Given the description of an element on the screen output the (x, y) to click on. 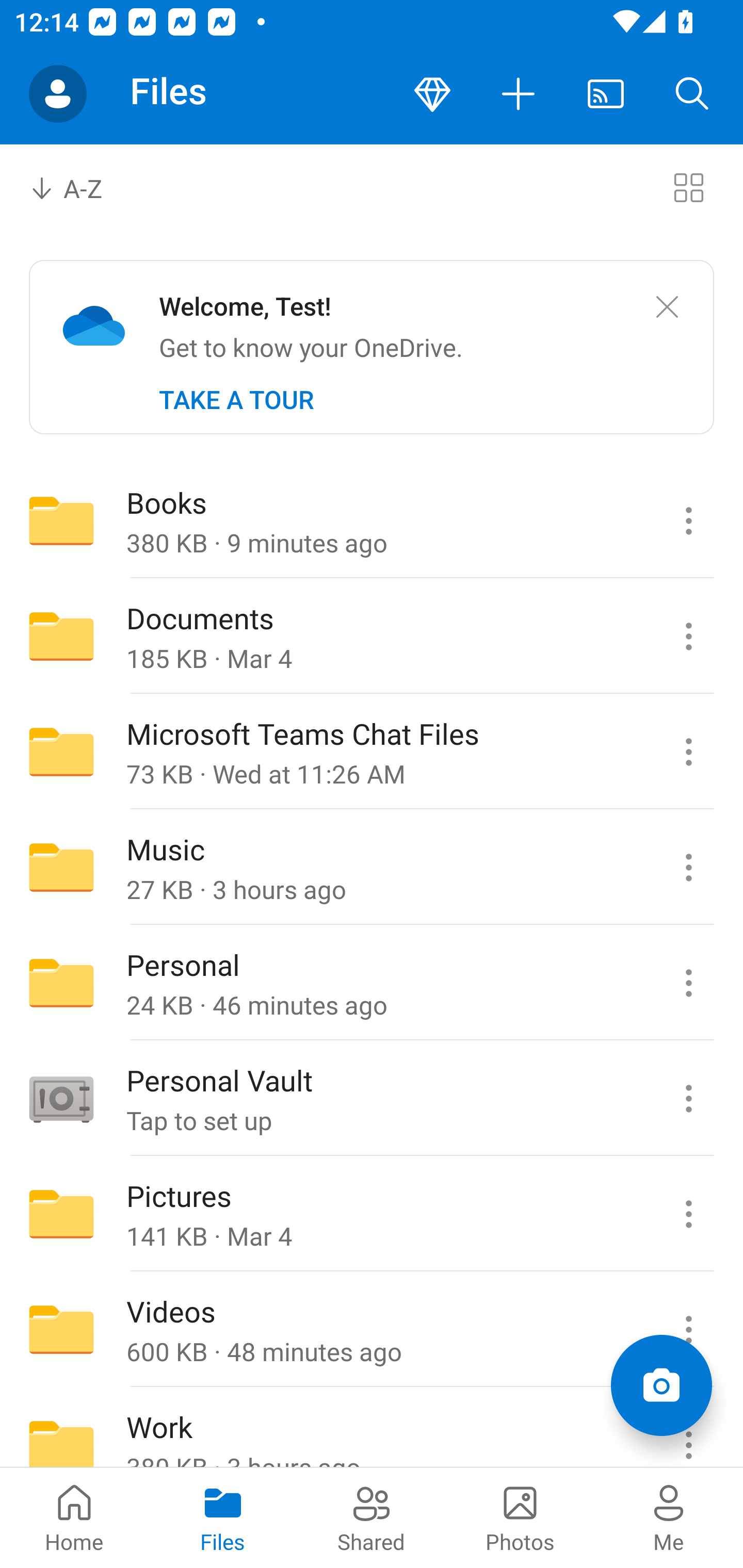
Account switcher (57, 93)
Cast. Disconnected (605, 93)
Premium button (432, 93)
More actions button (518, 93)
Search button (692, 93)
A-Z Sort by combo box, sort by name, A to Z (80, 187)
Switch to tiles view (688, 187)
Close (667, 307)
TAKE A TOUR (236, 399)
Folder Books 380 KB · 9 minutes ago Books commands (371, 520)
Books commands (688, 520)
Folder Documents 185 KB · Mar 4 Documents commands (371, 636)
Documents commands (688, 636)
Microsoft Teams Chat Files commands (688, 751)
Folder Music 27 KB · 3 hours ago Music commands (371, 867)
Music commands (688, 867)
Personal commands (688, 983)
Personal Vault commands (688, 1099)
Folder Pictures 141 KB · Mar 4 Pictures commands (371, 1214)
Pictures commands (688, 1214)
Videos commands (688, 1329)
Add items Scan (660, 1385)
Folder Work 380 KB · 3 hours ago Work commands (371, 1427)
Work commands (688, 1427)
Home pivot Home (74, 1517)
Shared pivot Shared (371, 1517)
Photos pivot Photos (519, 1517)
Me pivot Me (668, 1517)
